Given the description of an element on the screen output the (x, y) to click on. 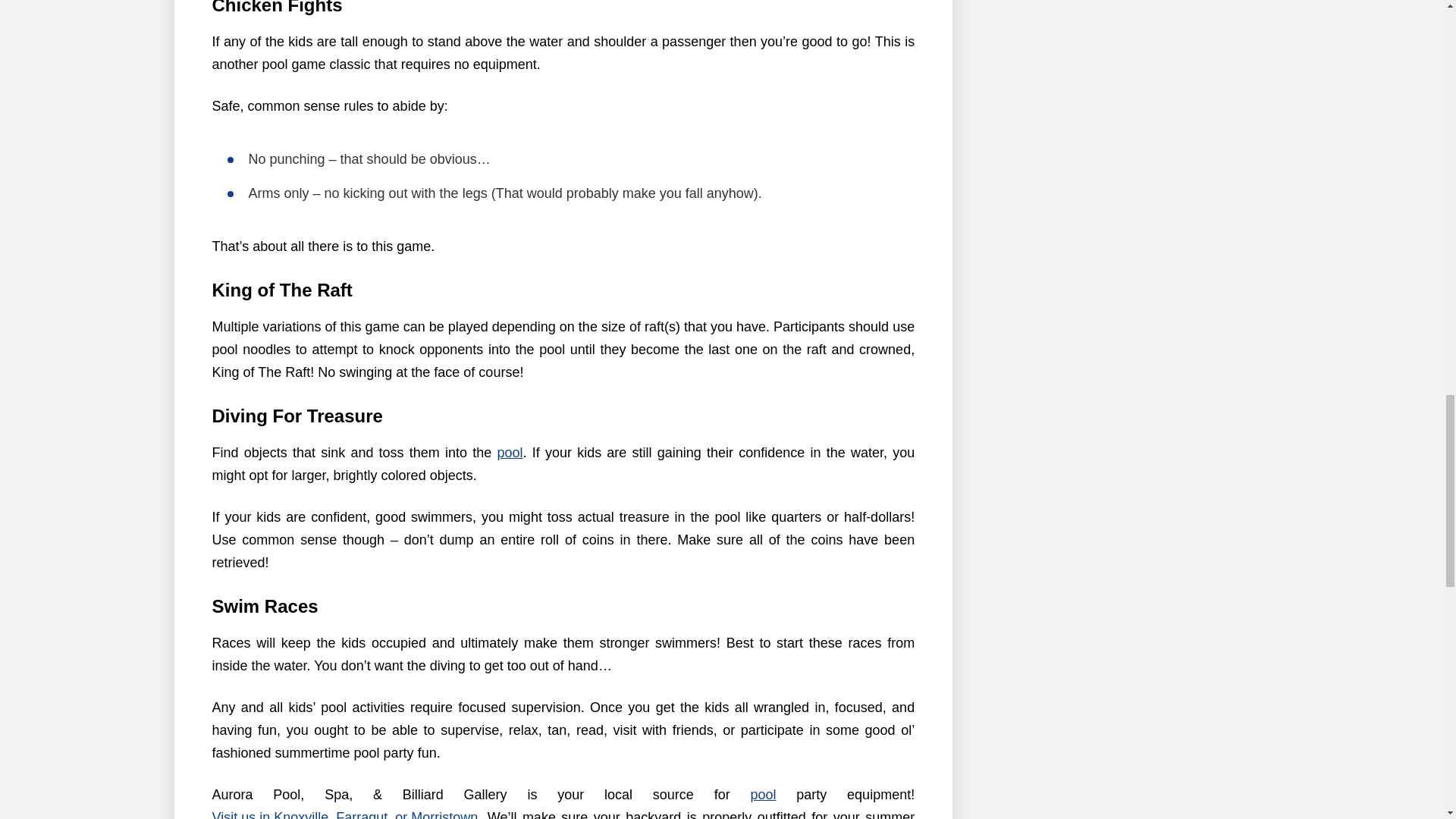
pool (762, 793)
Visit us in Knoxville, Farragut, or Morristown. (346, 812)
pool (509, 452)
